Given the description of an element on the screen output the (x, y) to click on. 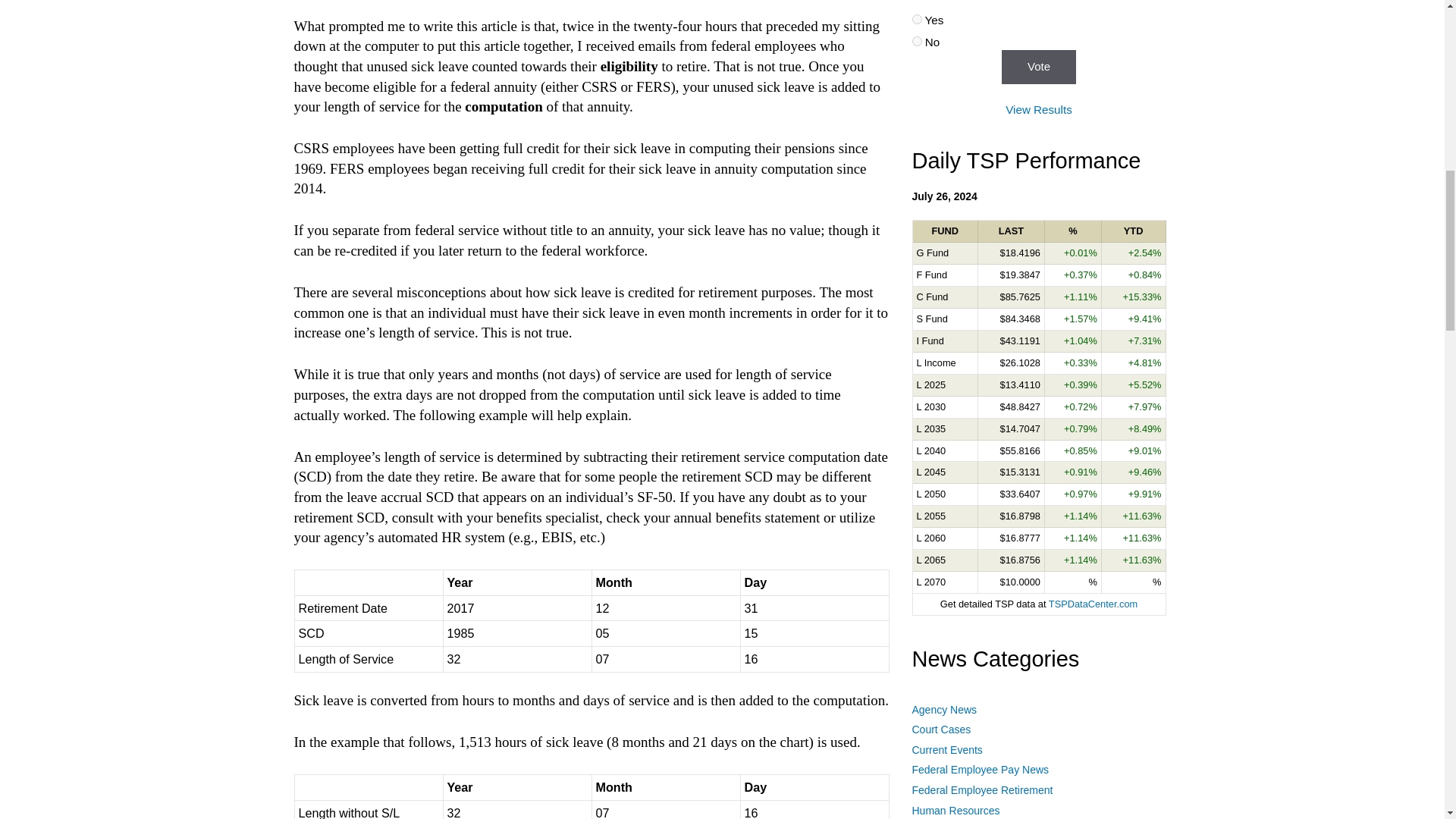
View Results Of This Poll (1038, 109)
2330 (916, 40)
2329 (916, 19)
Scroll back to top (1406, 659)
   Vote    (1038, 66)
